Given the description of an element on the screen output the (x, y) to click on. 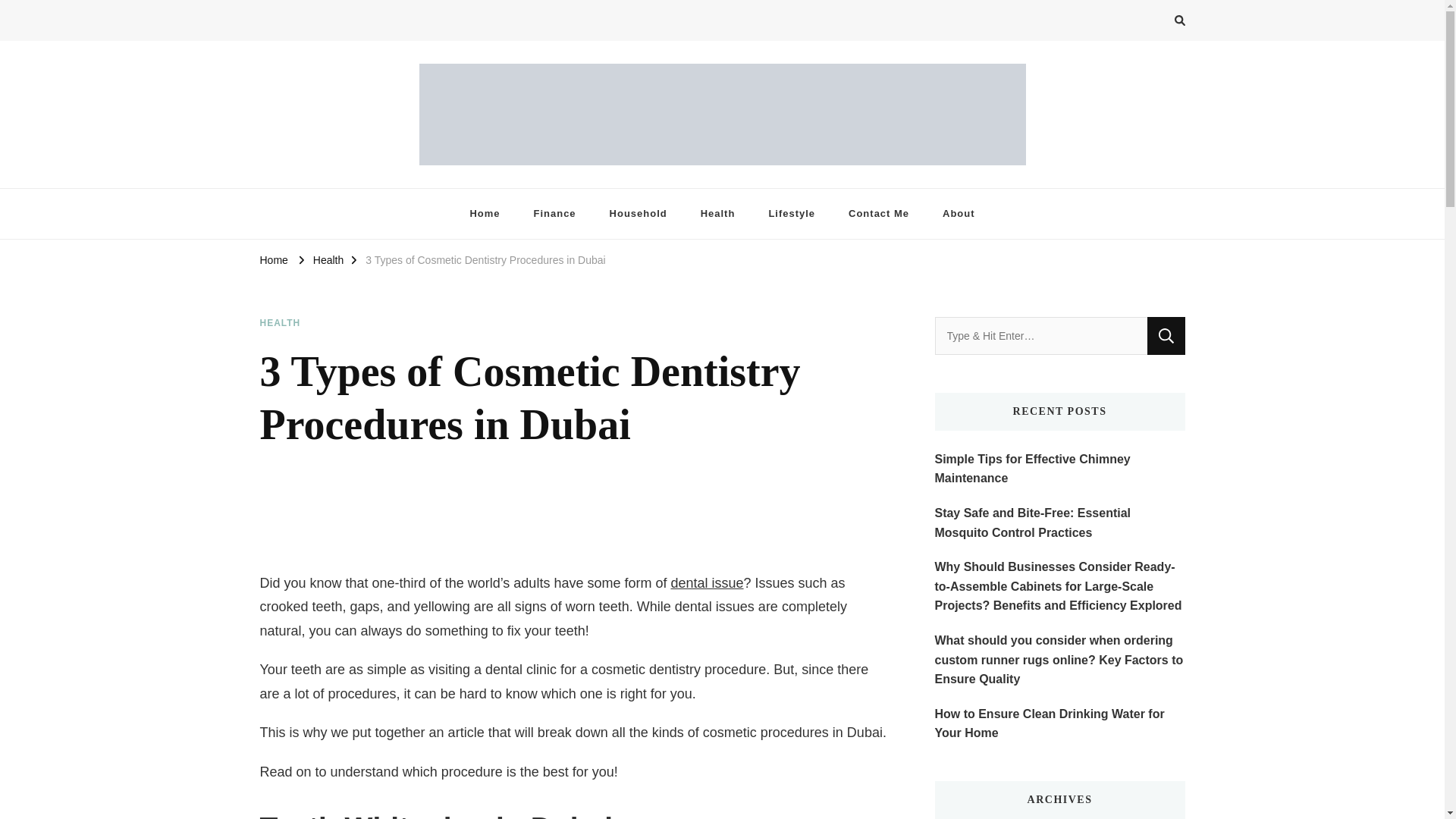
Lifestyle (791, 214)
Household (638, 214)
Home (484, 214)
Simple Tips for Effective Chimney Maintenance (1059, 468)
dental issue (705, 582)
Search (1166, 335)
Search (1166, 335)
About (958, 214)
HEALTH (279, 323)
